Given the description of an element on the screen output the (x, y) to click on. 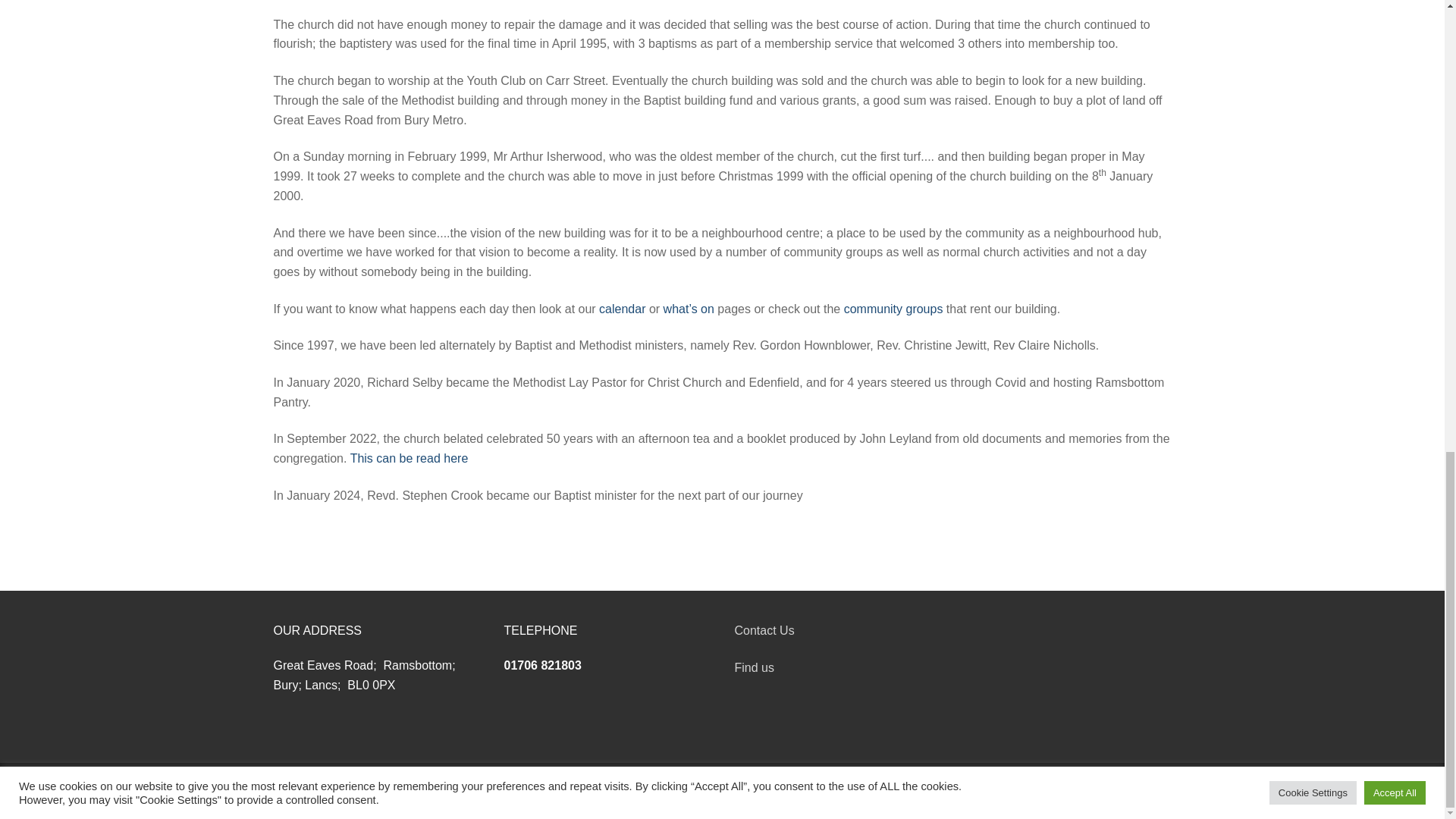
Contact Us (763, 630)
This can be read here (409, 458)
community groups (891, 308)
Find us (753, 667)
Customify (580, 790)
calendar (621, 308)
